Given the description of an element on the screen output the (x, y) to click on. 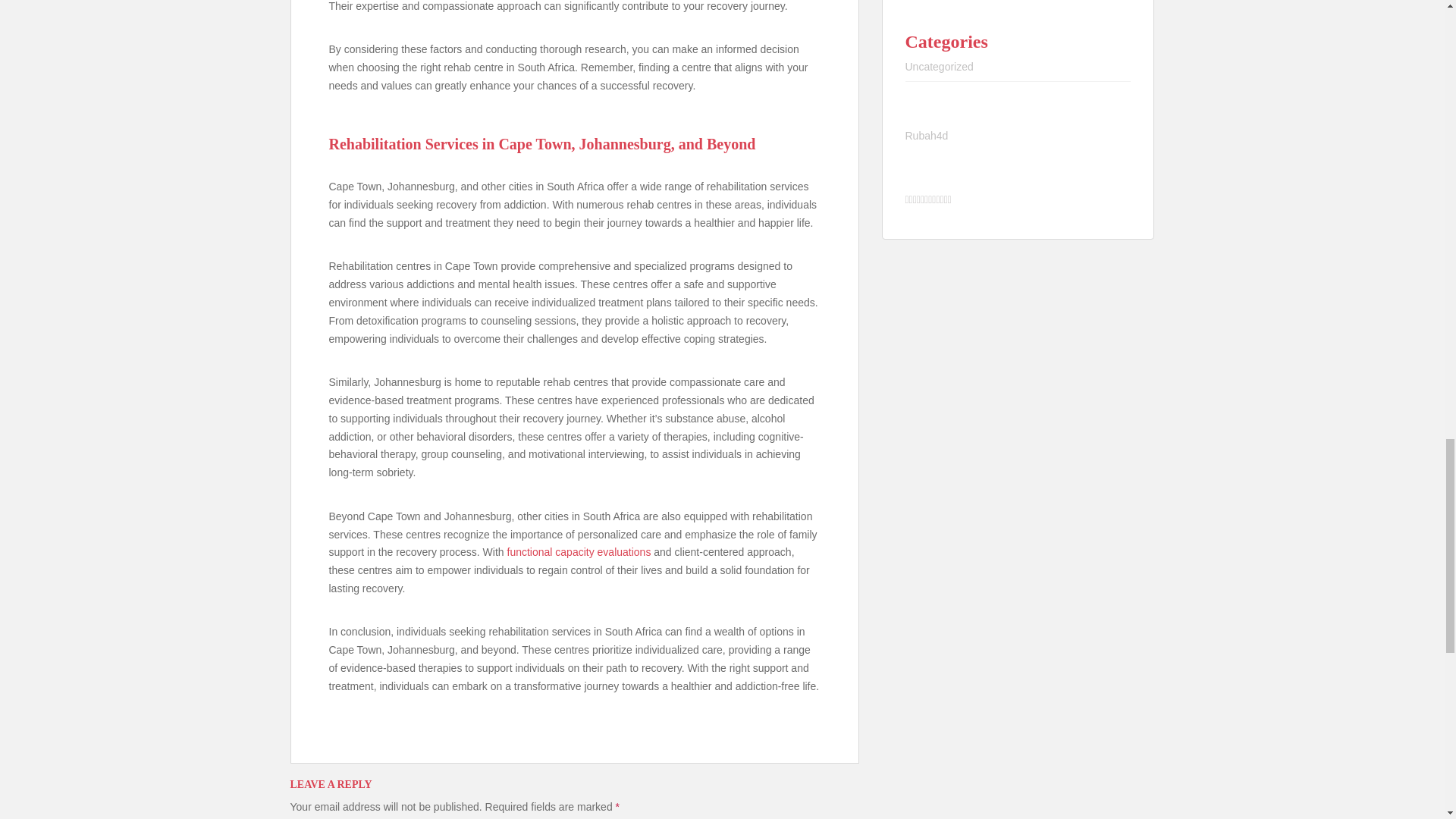
functional capacity evaluations (578, 551)
